Given the description of an element on the screen output the (x, y) to click on. 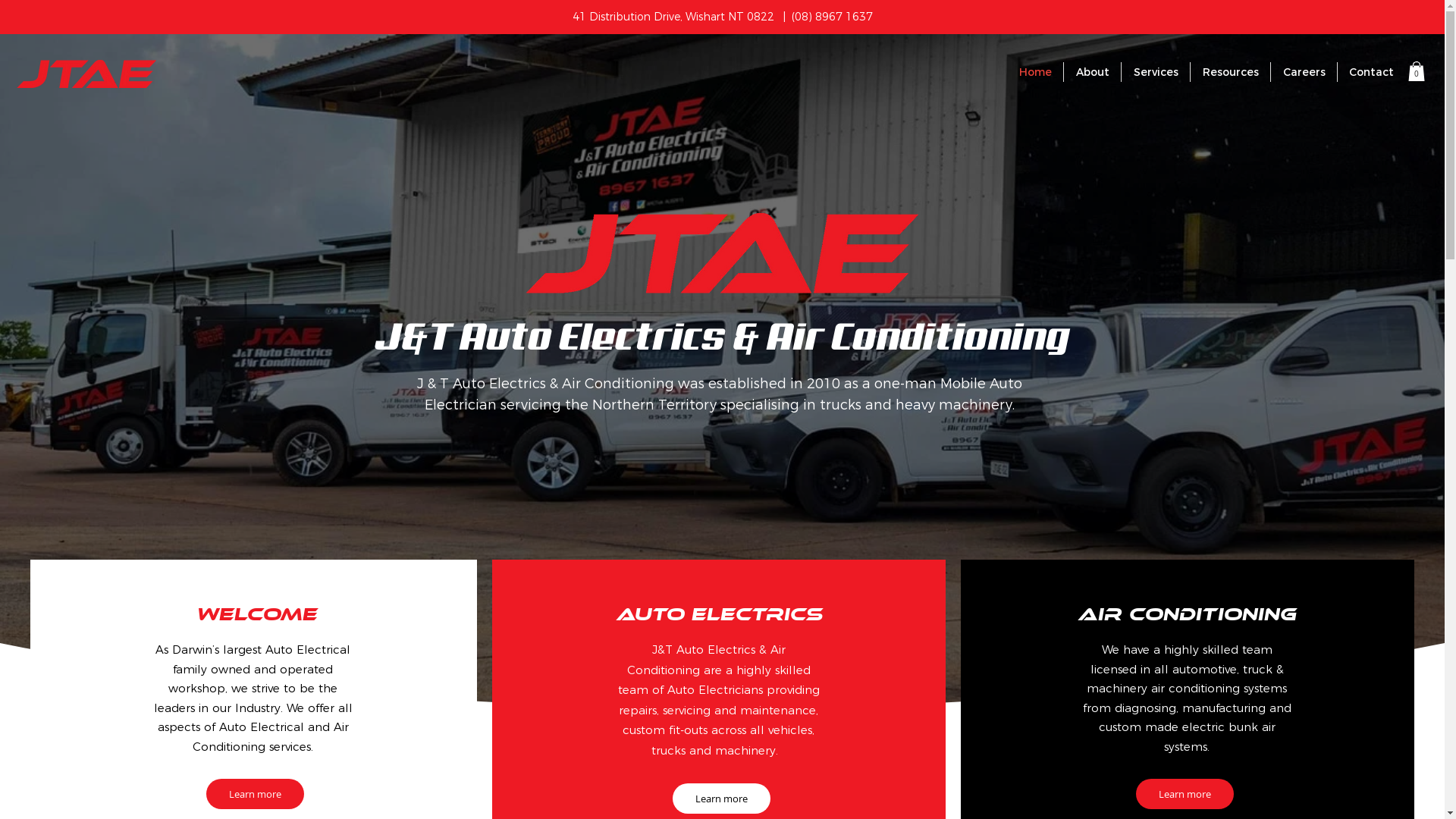
Learn more Element type: text (721, 798)
Resources Element type: text (1230, 71)
41 Distribution Drive, Wishart NT 0822  Element type: text (673, 16)
Contact Element type: text (1371, 71)
About Element type: text (1091, 71)
0 Element type: text (1416, 71)
Careers Element type: text (1303, 71)
Learn more Element type: text (1184, 793)
Home Element type: text (1035, 71)
Learn more Element type: text (255, 793)
